Given the description of an element on the screen output the (x, y) to click on. 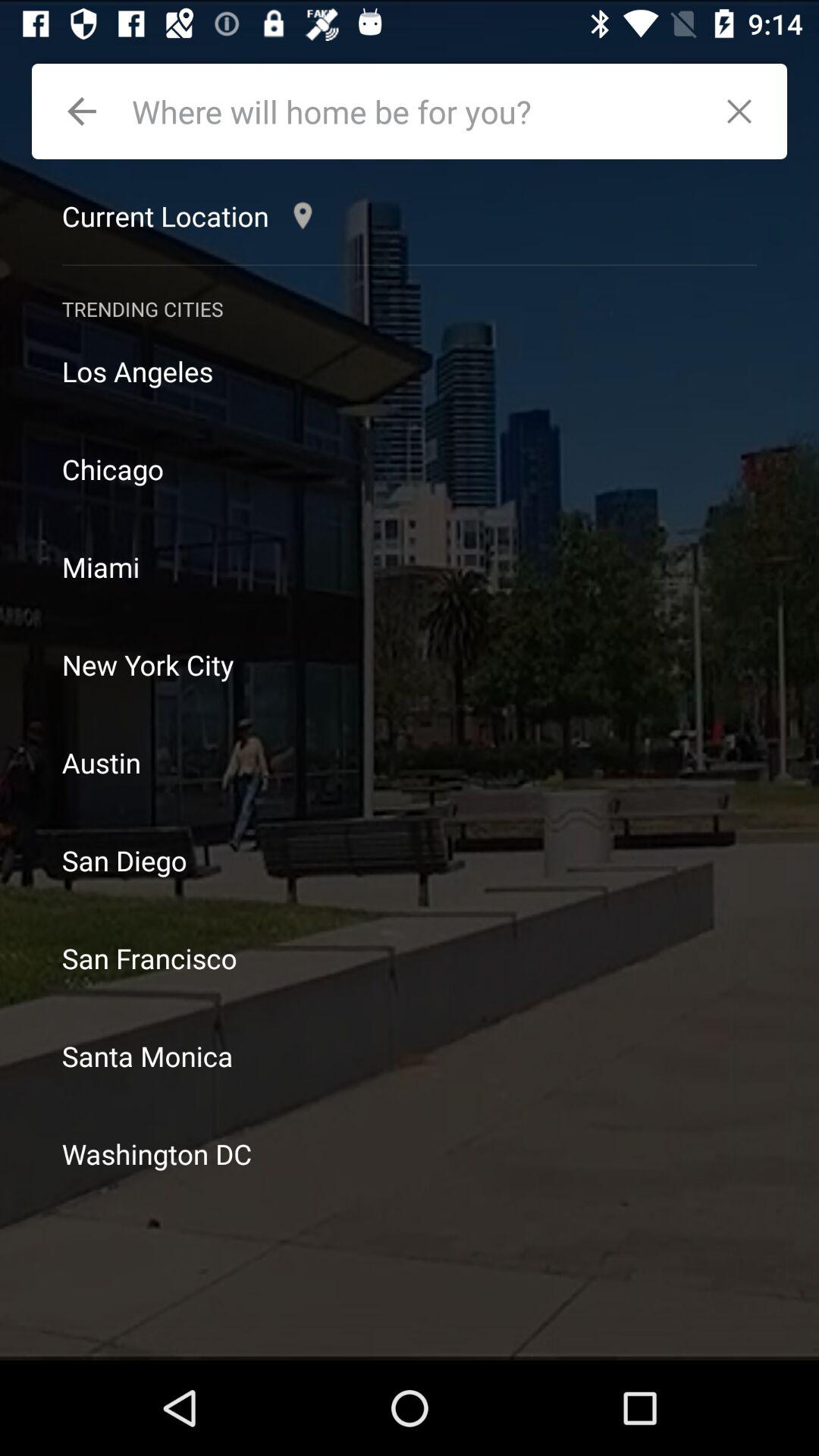
swipe until new york city (409, 664)
